Given the description of an element on the screen output the (x, y) to click on. 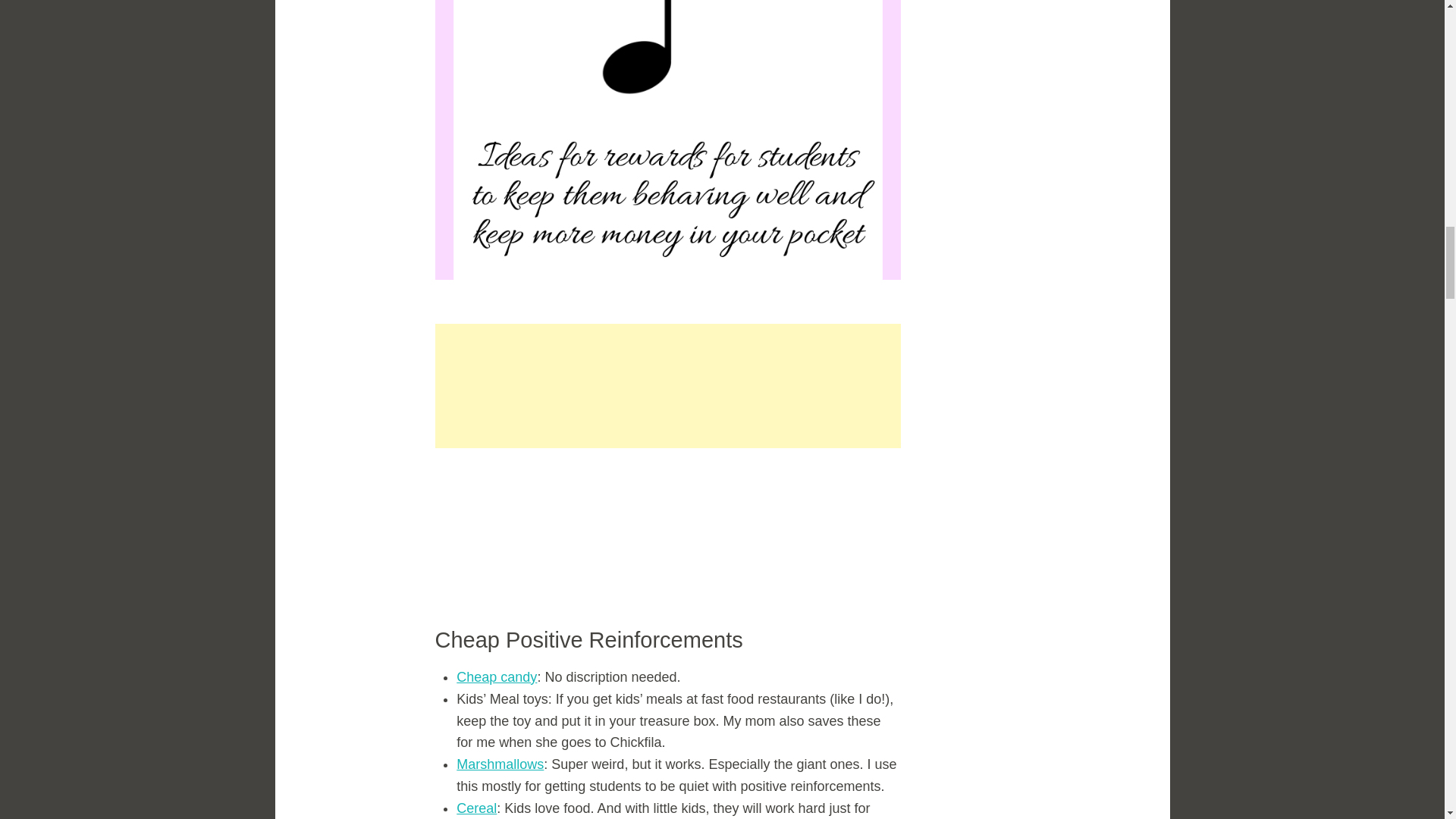
Cereal (476, 807)
Marshmallows (500, 764)
Cheap candy (497, 676)
